Given the description of an element on the screen output the (x, y) to click on. 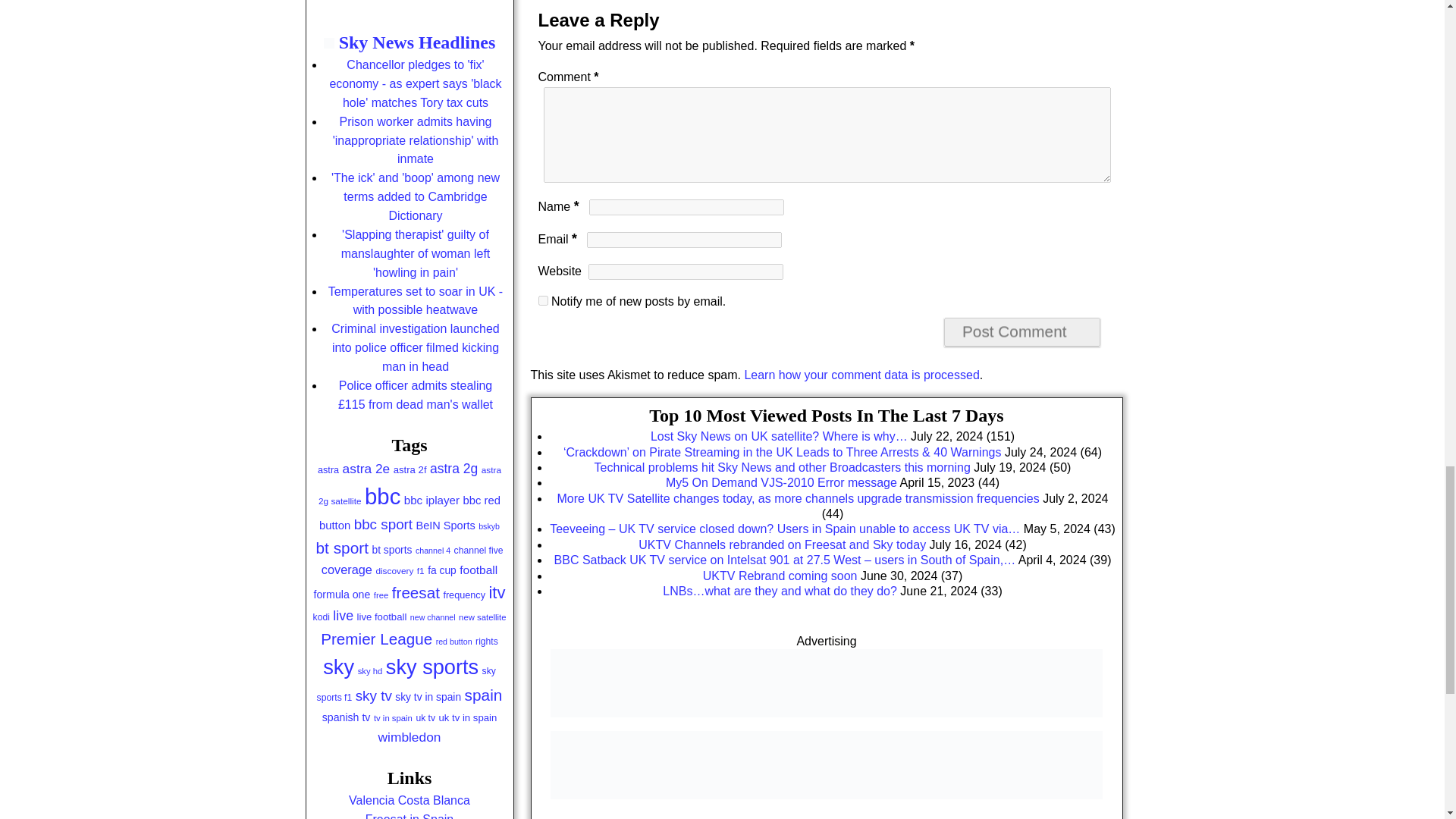
Best VPN for UK TV (826, 765)
Post Comment (1021, 331)
Smart DNS Proxy Services (826, 683)
Best VPN for UK TV (826, 794)
subscribe (543, 300)
Smart DNS Proxy Services (826, 721)
